Given the description of an element on the screen output the (x, y) to click on. 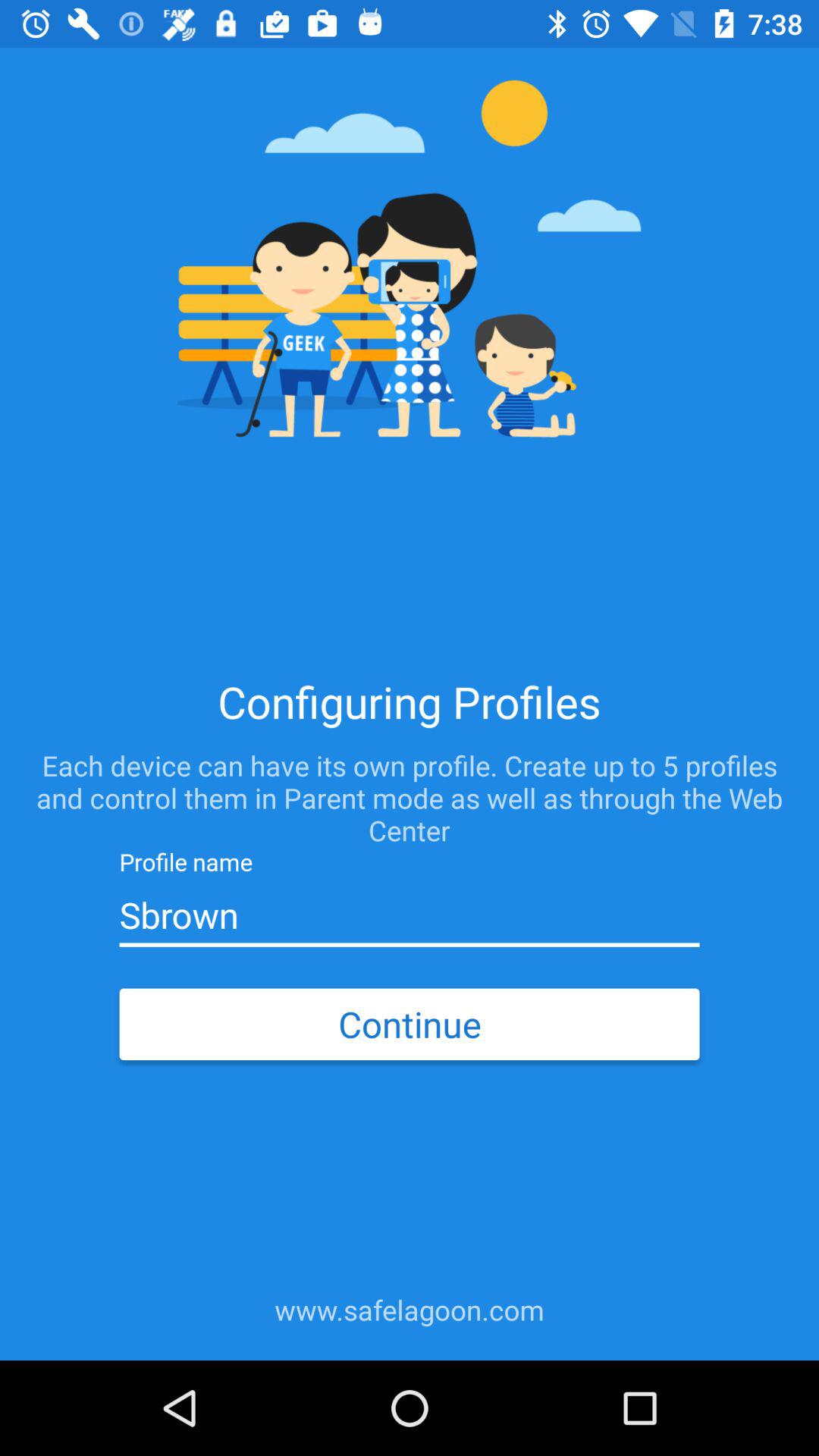
select the item above www.safelagoon.com (409, 1024)
